Given the description of an element on the screen output the (x, y) to click on. 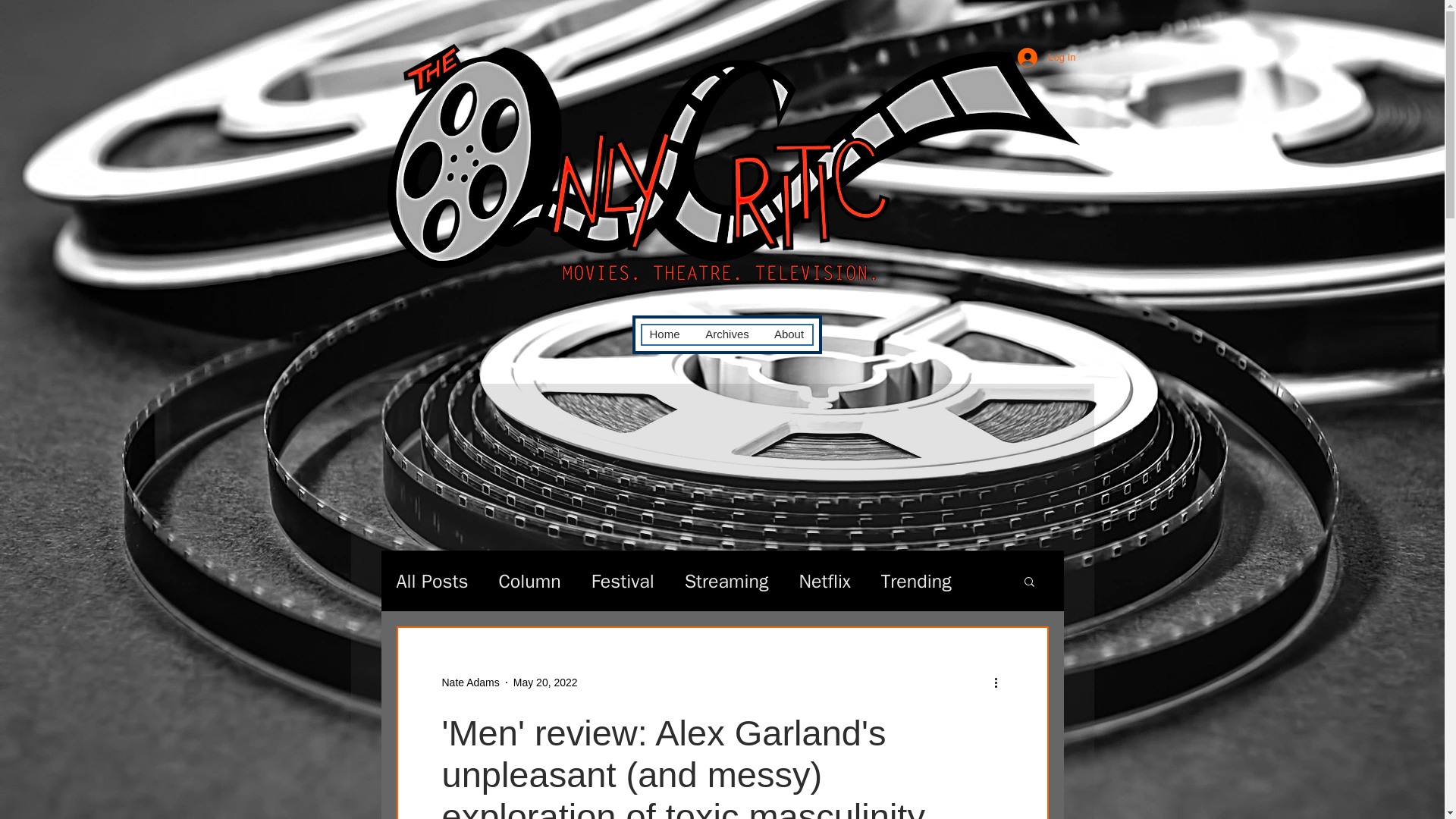
Streaming (726, 580)
Column (528, 580)
Festival (622, 580)
Archives (727, 333)
Home (665, 333)
Trending (916, 580)
Nate Adams (470, 682)
Log In (1046, 57)
All Posts (431, 580)
Netflix (823, 580)
Nate Adams (470, 682)
About (788, 333)
May 20, 2022 (545, 682)
